Given the description of an element on the screen output the (x, y) to click on. 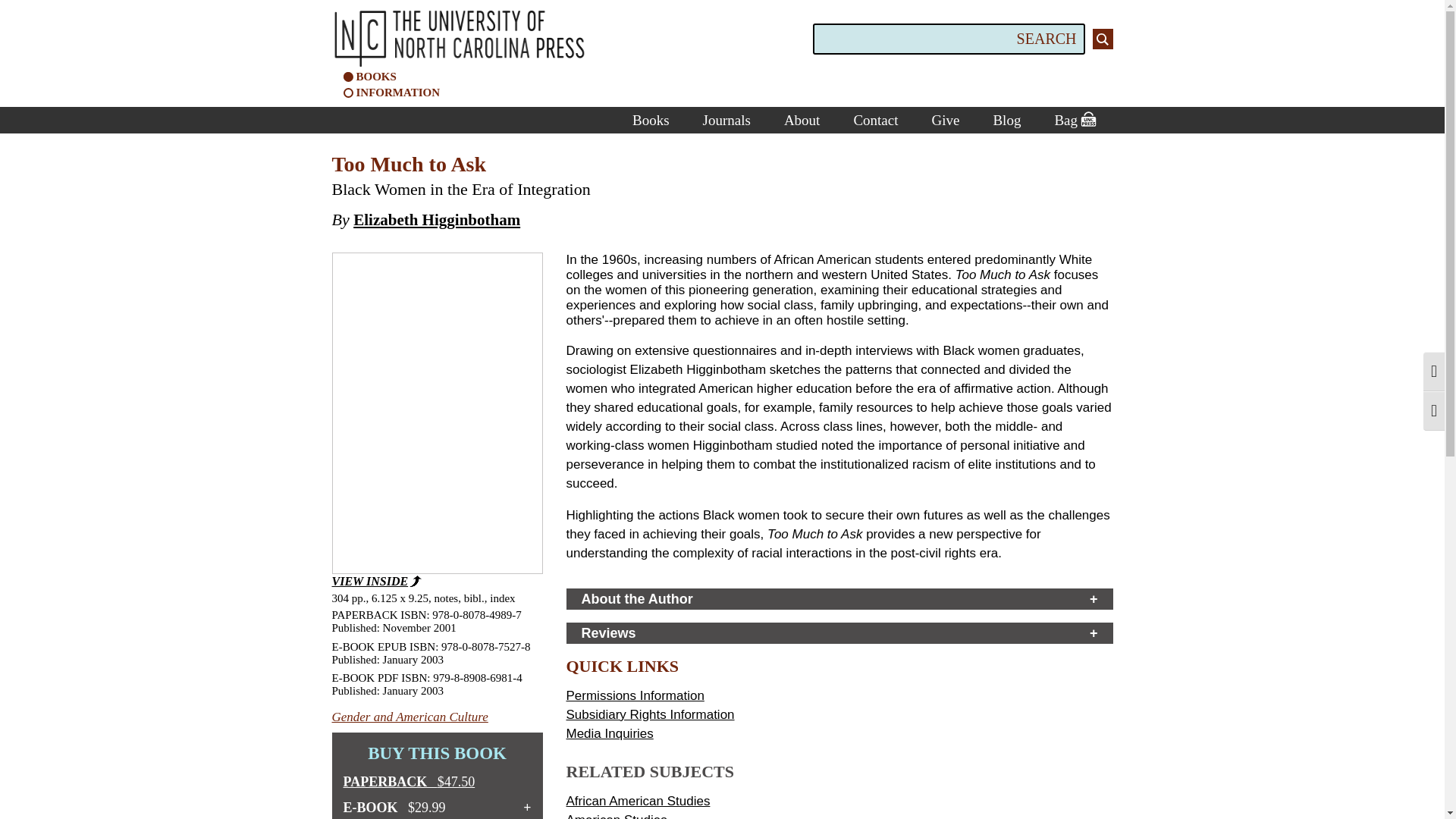
Gender and American Culture (409, 716)
Bag (1074, 120)
Blog (1005, 120)
Give (944, 120)
About (802, 120)
Books (650, 120)
Journals (726, 120)
VIEW INSIDE (437, 420)
Contact (874, 120)
Elizabeth Higginbotham (436, 219)
